Given the description of an element on the screen output the (x, y) to click on. 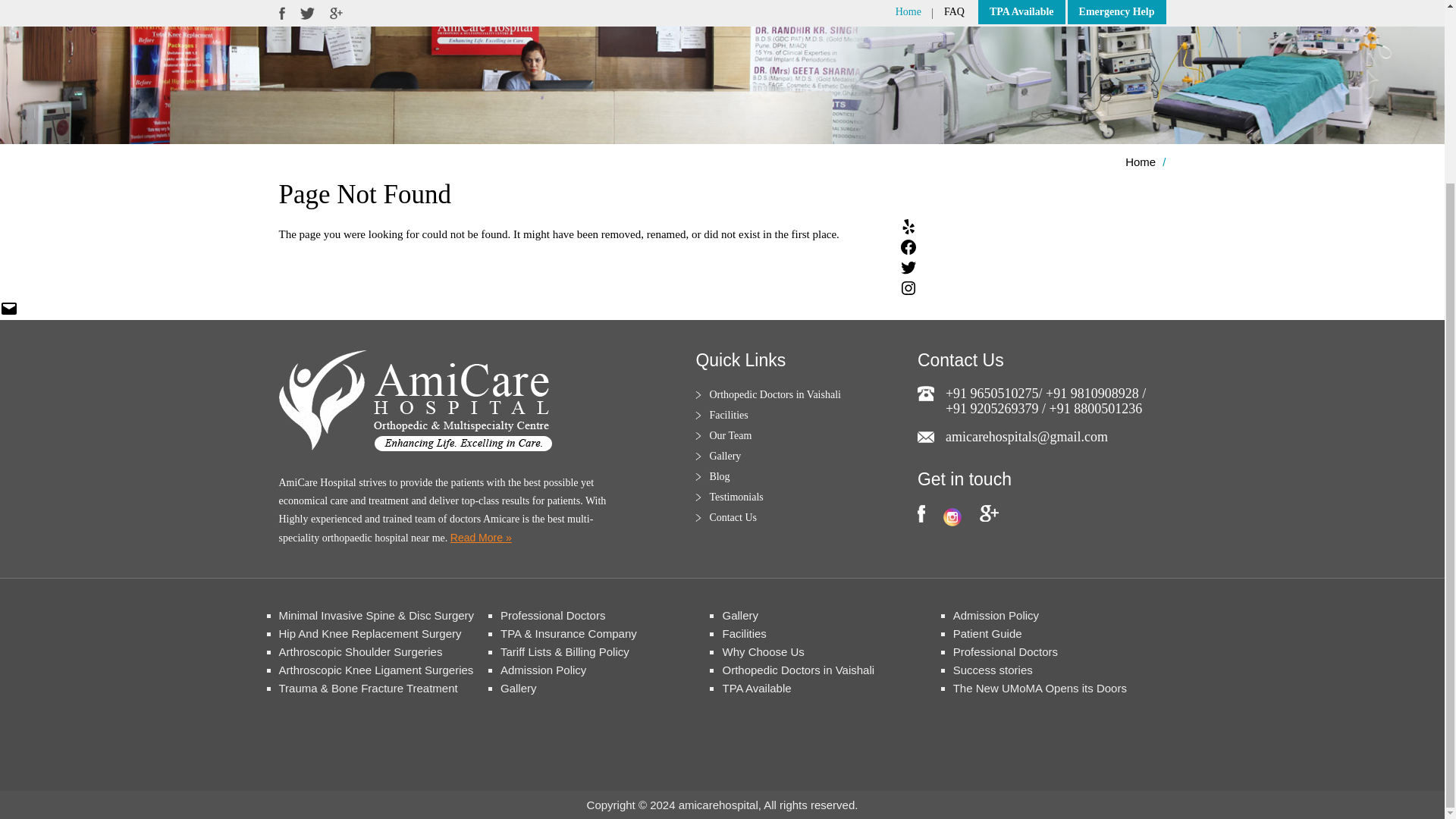
Home (1140, 161)
Google Busines (988, 513)
Instagram (951, 517)
